Given the description of an element on the screen output the (x, y) to click on. 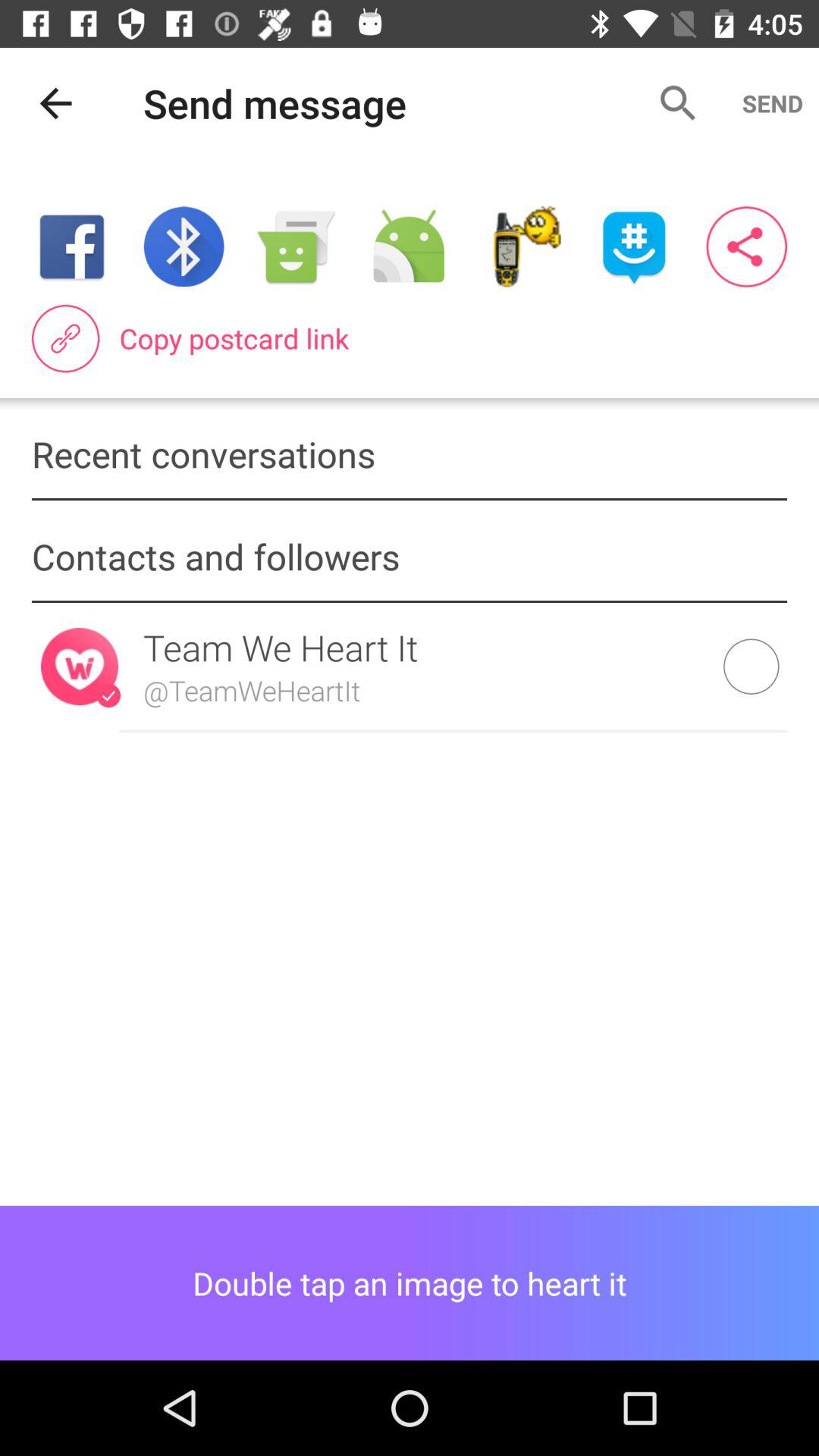
share through facebook option (71, 246)
